Given the description of an element on the screen output the (x, y) to click on. 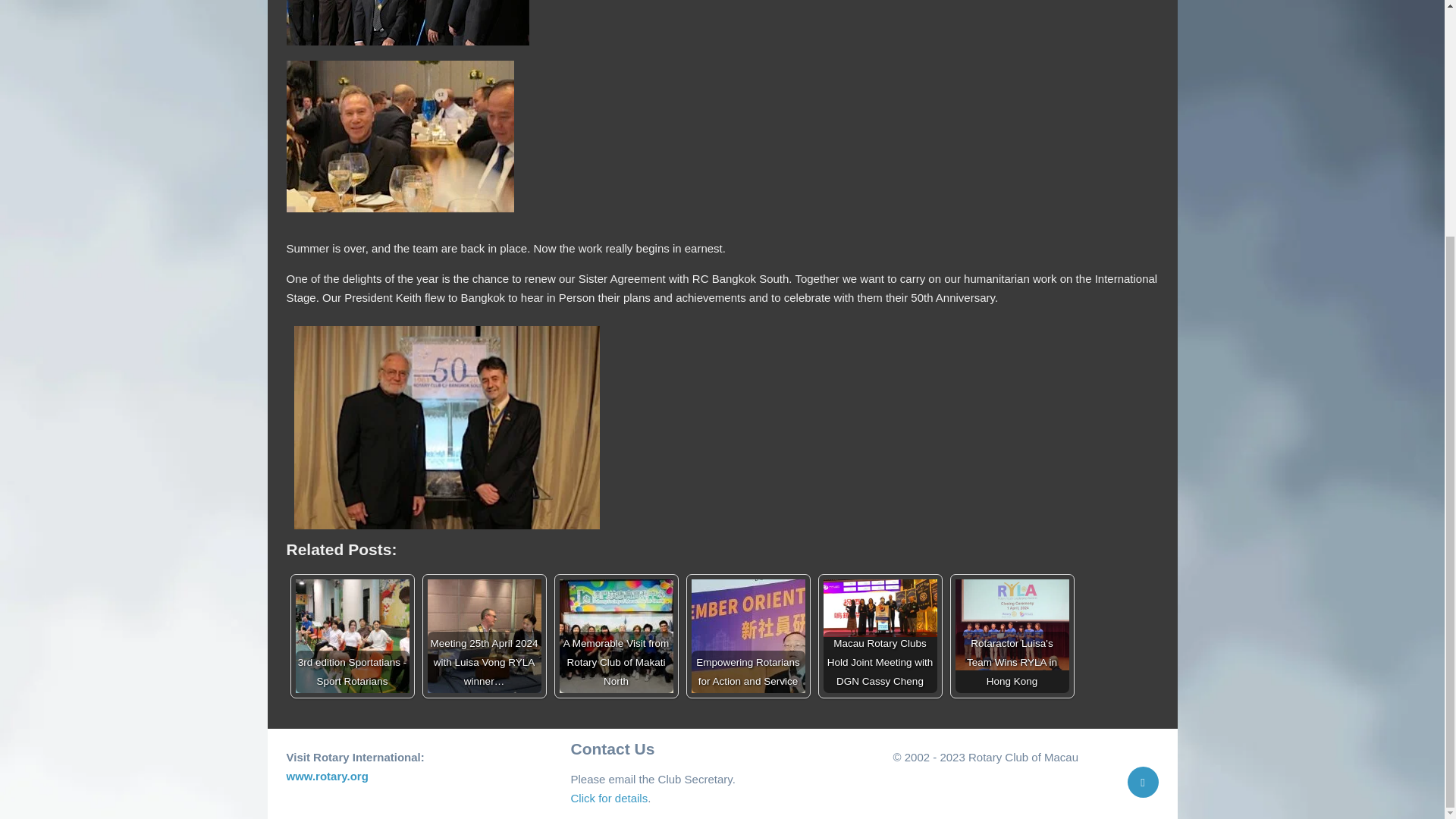
Empowering Rotarians for Action and Service (748, 635)
Macau Rotary Clubs Hold Joint Meeting with DGN Cassy Cheng (880, 635)
3rd edition Sportatians - Sport Rotarians (352, 635)
Click for details (608, 797)
Rotaractor Luisa's Team Wins RYLA in Hong Kong (1011, 635)
Empowering Rotarians for Action and Service (748, 635)
www.rotary.org (327, 775)
3rd edition Sportatians - Sport Rotarians (352, 635)
A Memorable Visit from Rotary Club of Makati North (615, 635)
Rotaractor Luisa's Team Wins RYLA in Hong Kong (1011, 624)
www.rotary.org (327, 775)
6216156357 09f31caeb0 o (399, 136)
A Memorable Visit from Rotary Club of Makati North (615, 635)
Macau Rotary Clubs Hold Joint Meeting with DGN Cassy Cheng (880, 608)
